Given the description of an element on the screen output the (x, y) to click on. 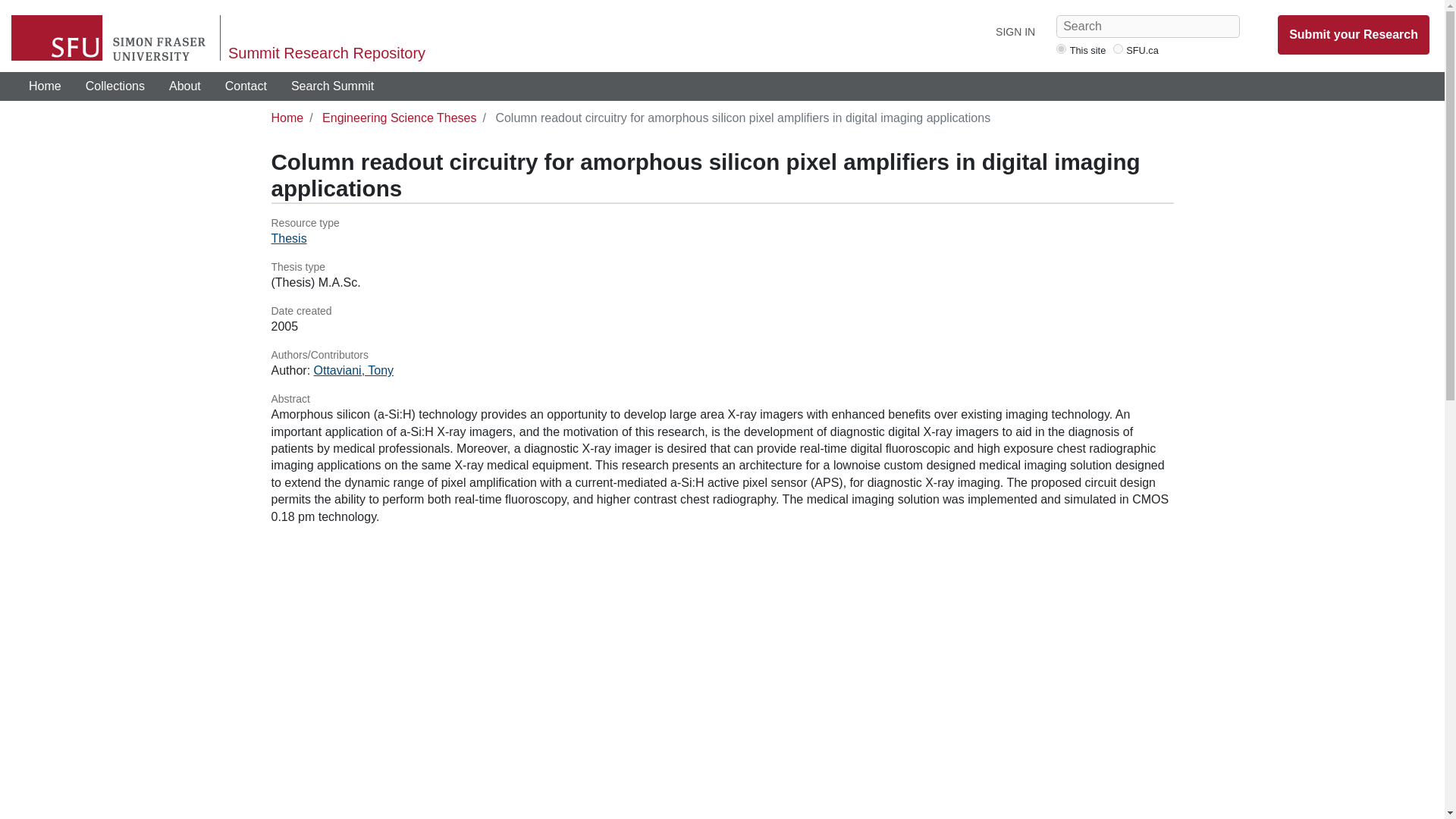
Home (287, 117)
Abstract (721, 399)
About this site (184, 86)
Thesis type (721, 267)
SIGN IN (1015, 31)
About (184, 86)
navbar-sfu (1117, 49)
Summit Research Repository (326, 53)
Thesis (288, 237)
Home (45, 86)
navbar-staff (1061, 49)
Search Summit (332, 86)
Homepage for SFU Summit website (45, 86)
Date created (721, 311)
Browse SFU collections of theses and published works (115, 86)
